Given the description of an element on the screen output the (x, y) to click on. 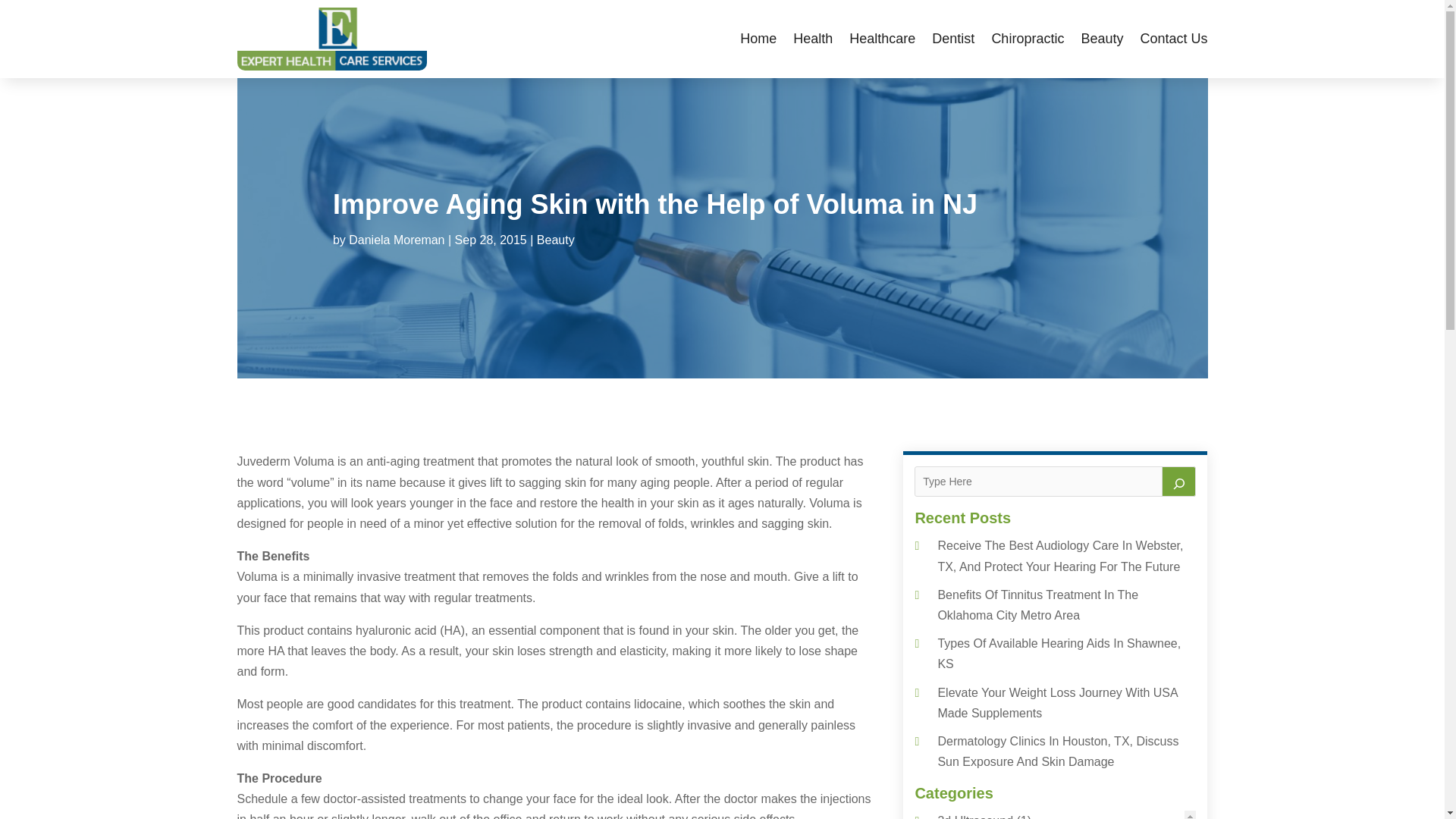
Types Of Available Hearing Aids In Shawnee, KS (1058, 653)
Contact Us (1173, 38)
3d Ultrasound (975, 816)
Daniela Moreman (396, 239)
Posts by Daniela Moreman (396, 239)
Healthcare (881, 38)
Chiropractic (1027, 38)
Elevate Your Weight Loss Journey With USA Made Supplements (1056, 702)
Beauty (556, 239)
